Given the description of an element on the screen output the (x, y) to click on. 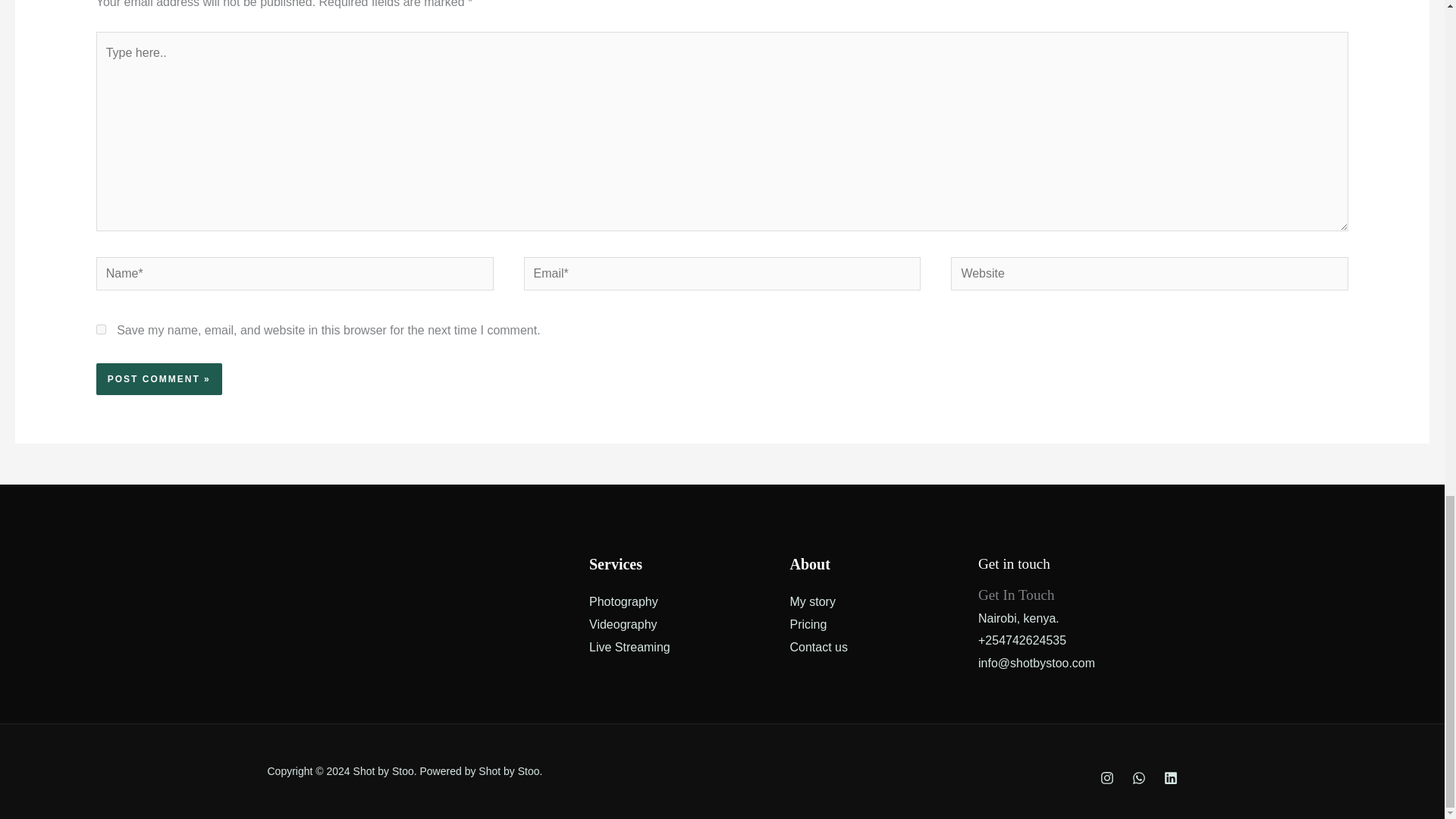
yes (101, 329)
Photography (623, 601)
Live Streaming (629, 646)
Contact us (818, 646)
Pricing (808, 624)
Videography (623, 624)
My story (812, 601)
